Given the description of an element on the screen output the (x, y) to click on. 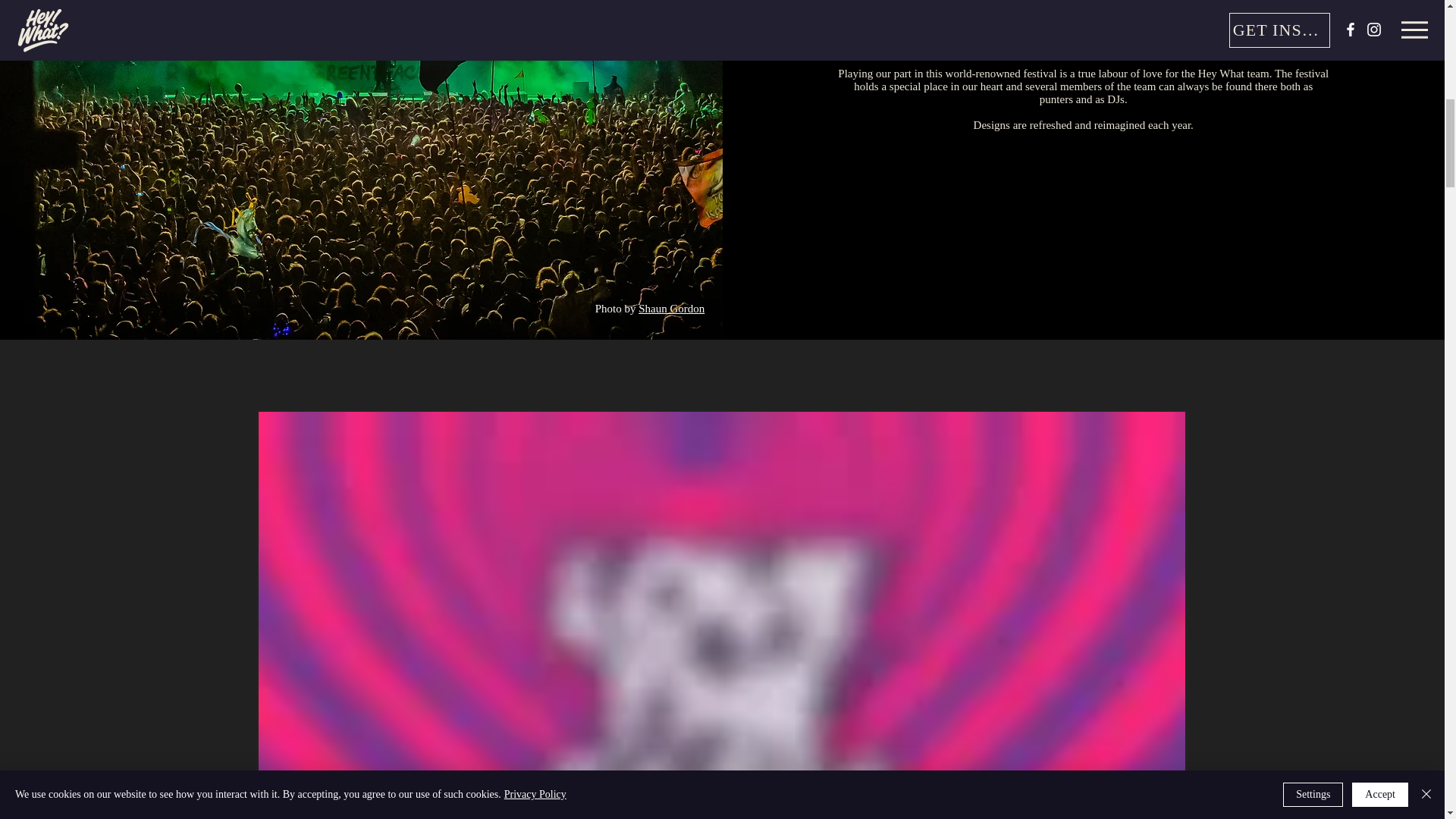
Shaun Gordon (671, 308)
